Given the description of an element on the screen output the (x, y) to click on. 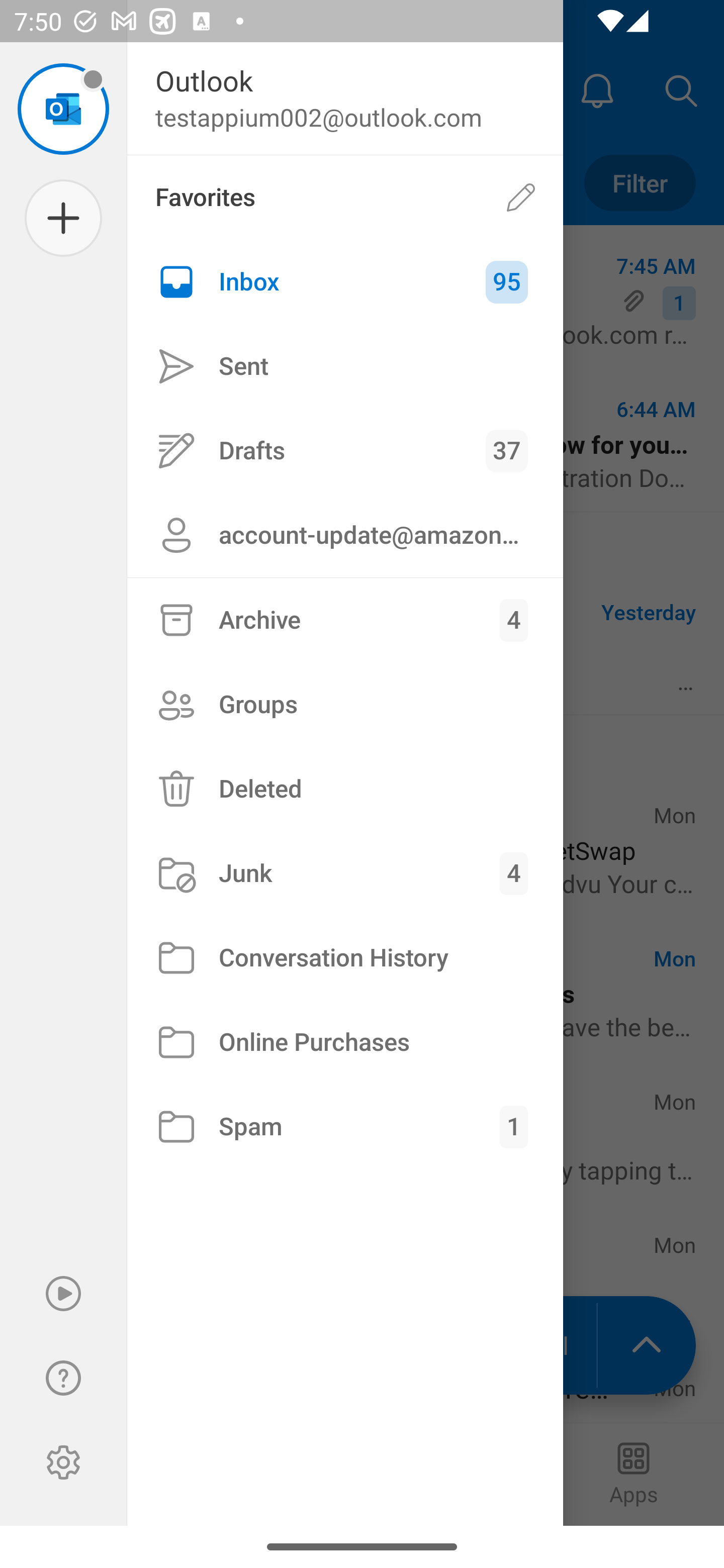
Edit favorites (520, 197)
Add account (63, 217)
Inbox Inbox, 95 unread emails,Selected (345, 281)
Sent (345, 366)
Drafts Drafts, 37 unread emails (345, 450)
account-update@amazon.com (345, 534)
Archive Archive, 2 of 8, level 1, 4 unread emails (345, 619)
Groups Groups, 3 of 8, level 1 (345, 703)
Deleted Deleted, 4 of 8, level 1 (345, 788)
Junk Junk, 5 of 8, level 1, 4 unread emails (345, 873)
Online Purchases Online Purchases, 7 of 8, level 1 (345, 1042)
Spam Spam, 8 of 8, level 1, 1 unread email (345, 1127)
Play My Emails (62, 1293)
Help (62, 1377)
Settings (62, 1462)
